Given the description of an element on the screen output the (x, y) to click on. 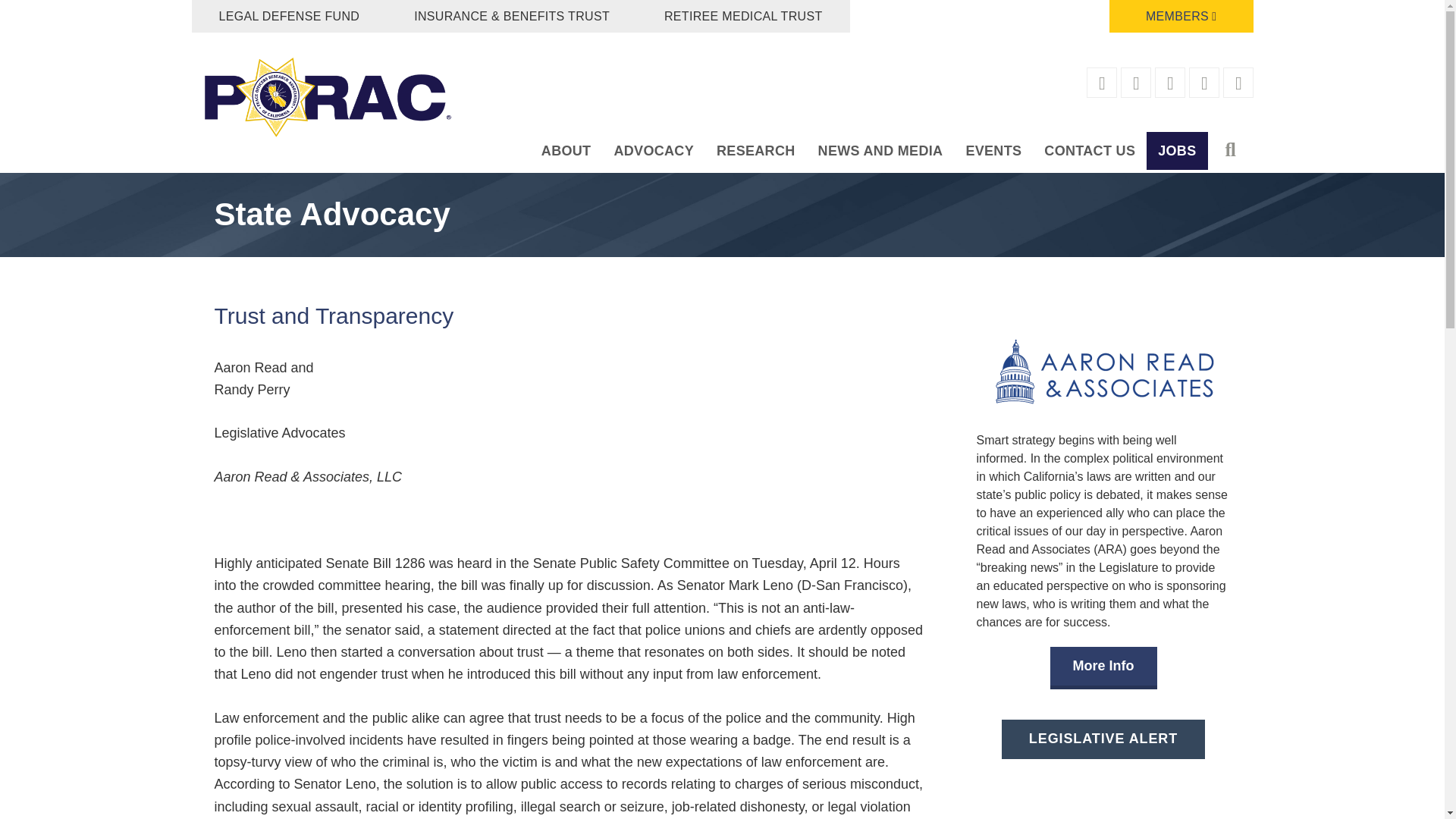
LinkedIn (1238, 82)
Instagram (1171, 82)
RETIREE MEDICAL TRUST (743, 16)
Facebook (1102, 82)
LEGAL DEFENSE FUND (288, 16)
Twitter (1136, 82)
ADVOCACY (653, 150)
MEMBERS (1181, 16)
ABOUT (565, 150)
YouTube (1204, 82)
